Given the description of an element on the screen output the (x, y) to click on. 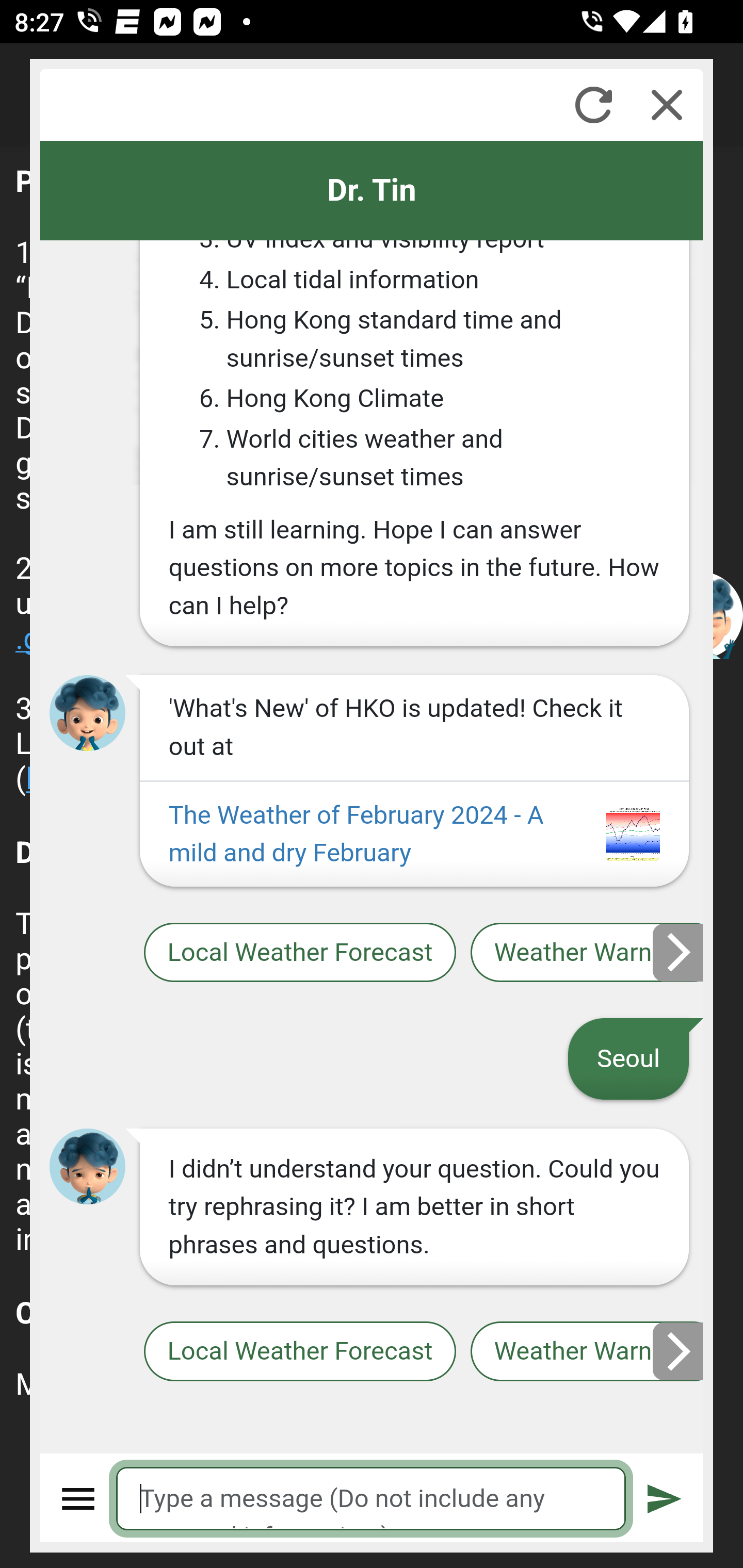
Refresh (593, 104)
Close (666, 104)
Local Weather Forecast (299, 951)
Weather Warnings (587, 951)
Next slide (678, 951)
Local Weather Forecast (299, 1351)
Weather Warnings (587, 1351)
Next slide (678, 1351)
Menu (78, 1498)
Submit (665, 1498)
